Given the description of an element on the screen output the (x, y) to click on. 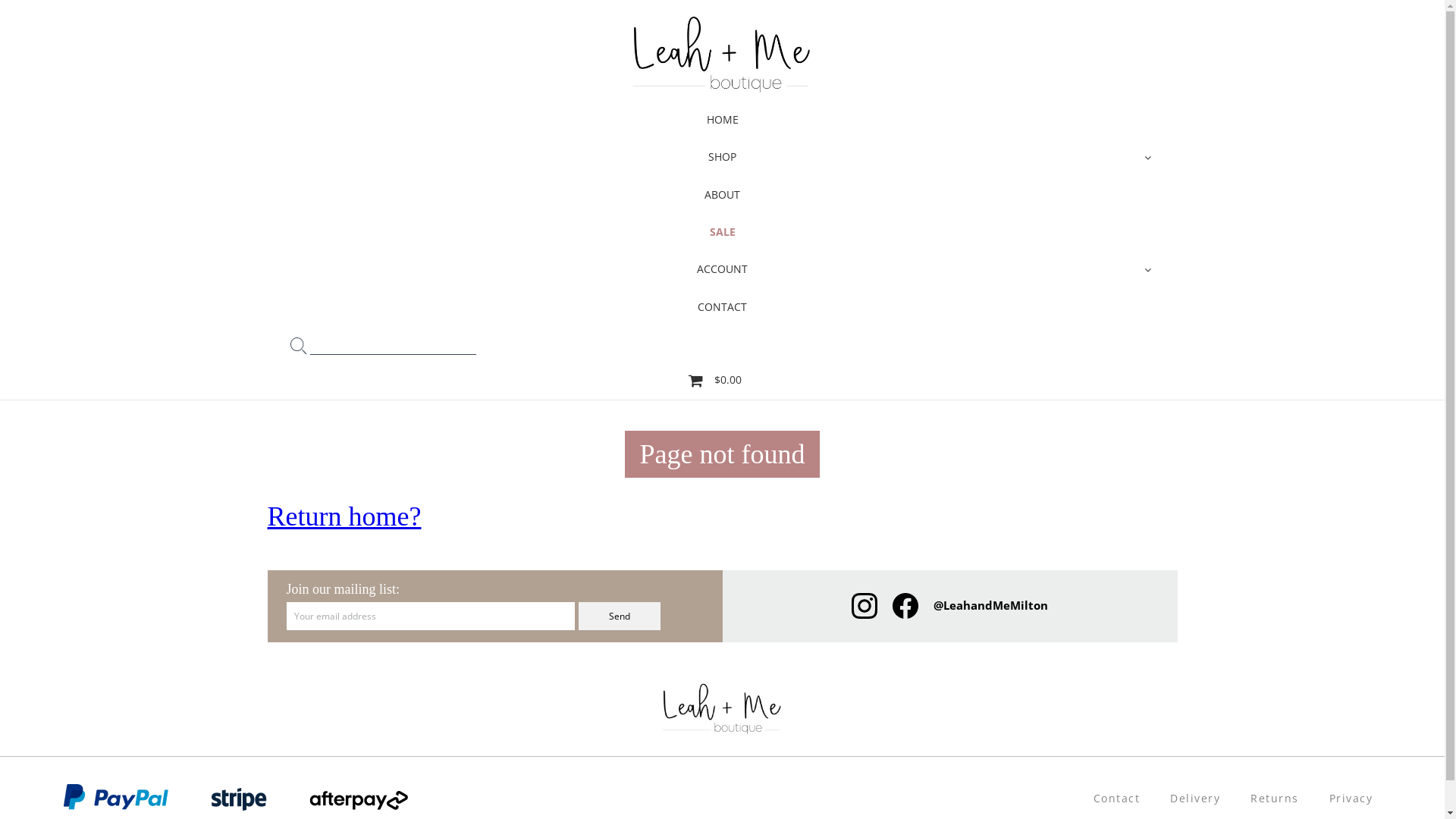
Contact Element type: text (1116, 797)
Delivery Element type: text (1195, 797)
ABOUT Element type: text (722, 194)
Send Element type: text (618, 616)
@LeahandMeMilton Element type: text (990, 605)
SALE Element type: text (722, 231)
SHOP Element type: text (722, 156)
Return home? Element type: text (343, 516)
HOME Element type: text (722, 119)
ACCOUNT Element type: text (722, 268)
CONTACT Element type: text (722, 306)
$0.00 Element type: text (714, 380)
Privacy Element type: text (1350, 797)
Returns Element type: text (1274, 797)
